Given the description of an element on the screen output the (x, y) to click on. 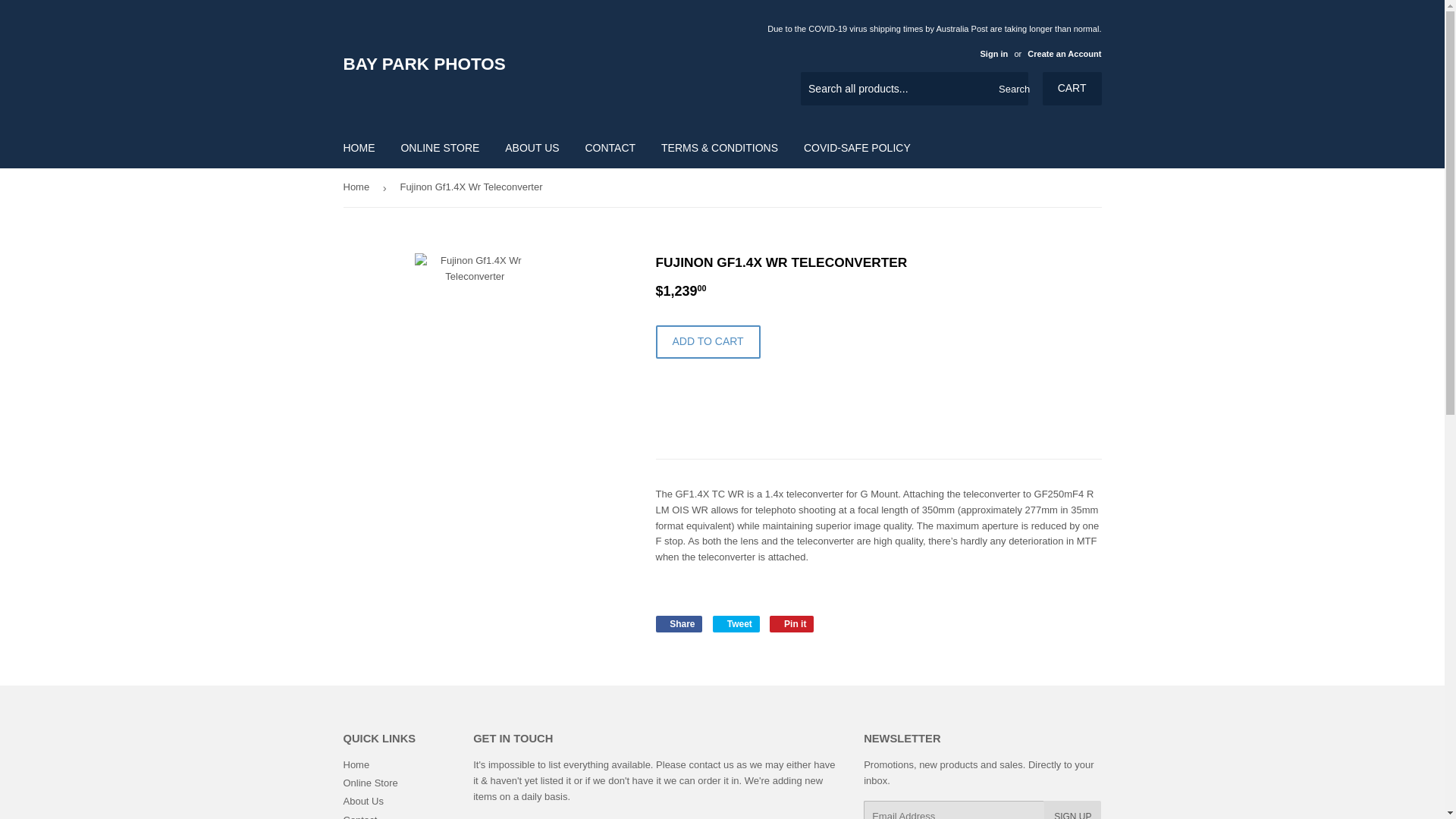
Search (1010, 89)
Sign in (993, 53)
Share on Facebook (678, 623)
Tweet on Twitter (736, 623)
Pin on Pinterest (791, 623)
Create an Account (1063, 53)
CART (1072, 88)
BAY PARK PHOTOS (532, 64)
